Given the description of an element on the screen output the (x, y) to click on. 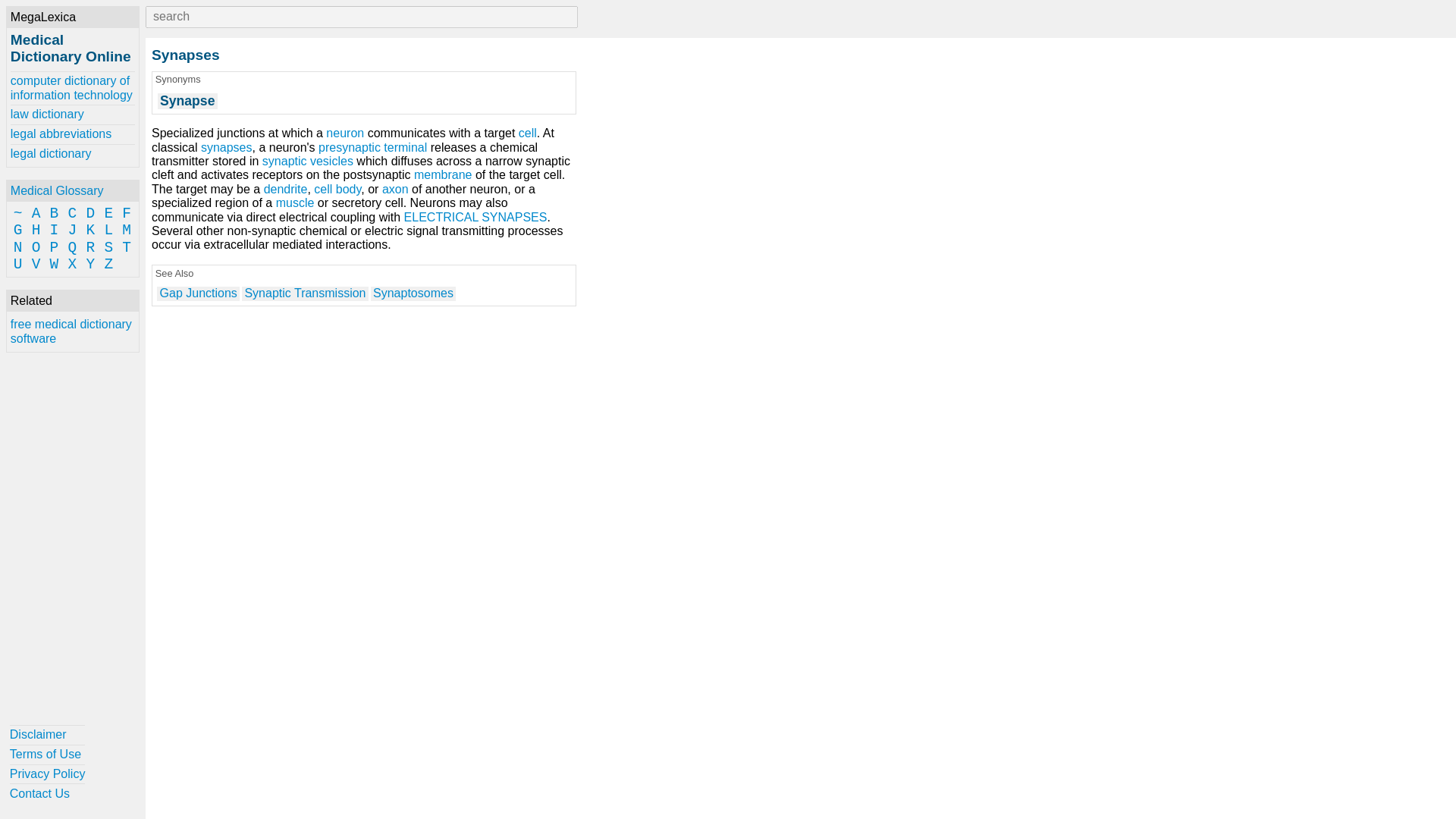
legal abbreviations (72, 134)
Medical Dictionary Online (70, 48)
free medical dictionary software (72, 331)
Disclaimer (47, 734)
Privacy Policy (47, 773)
Terms of Use (47, 754)
computer dictionary of information technology (72, 87)
Contact Us (47, 792)
legal dictionary (72, 153)
law dictionary (72, 114)
